Given the description of an element on the screen output the (x, y) to click on. 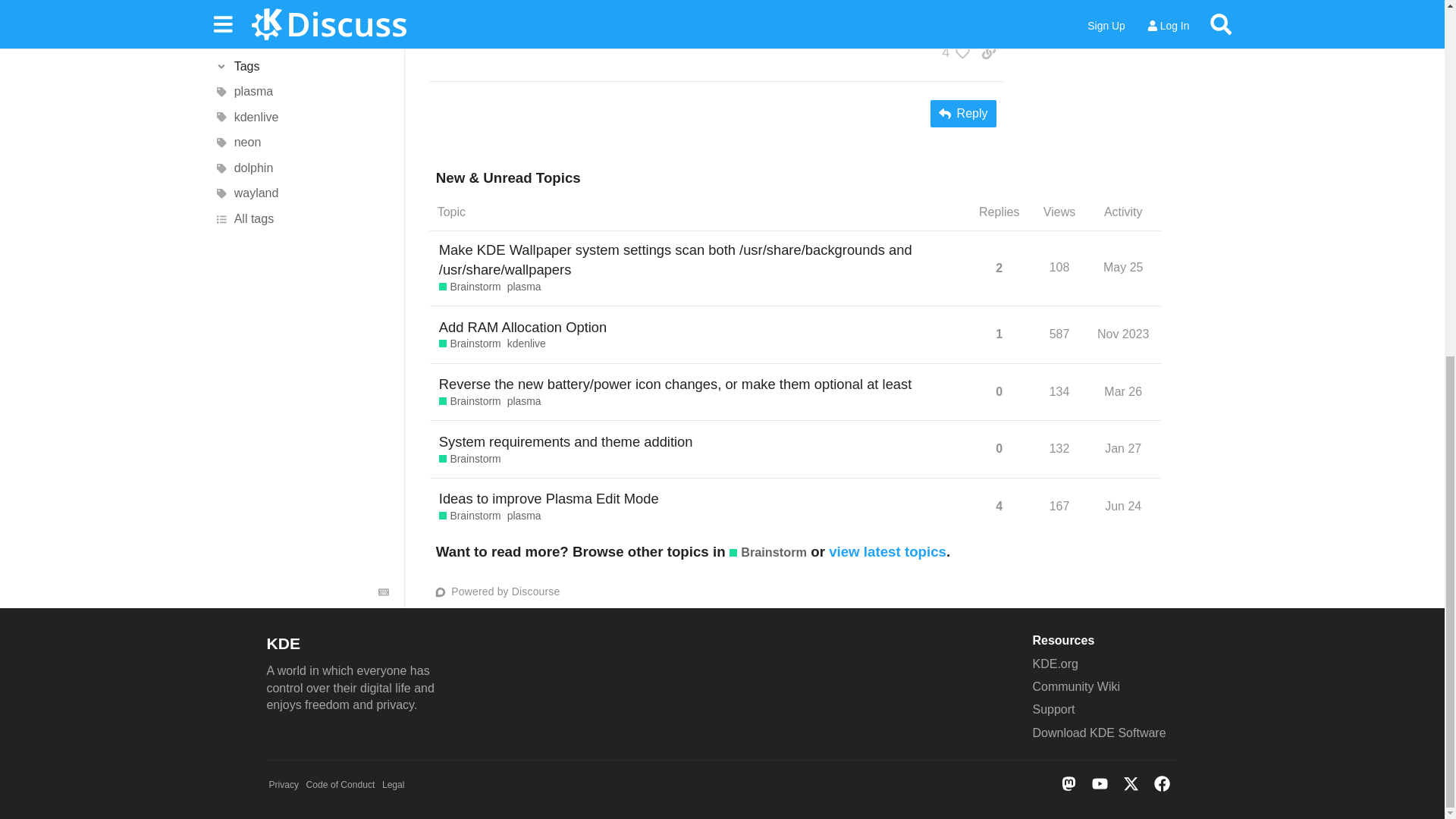
Add RAM Allocation Option (523, 326)
kdenlive (526, 344)
Brainstorm (469, 287)
plasma (523, 287)
Brainstorm (469, 344)
May 25 (1123, 267)
4 (951, 52)
Keyboard Shortcuts (384, 177)
Reply (962, 113)
